Given the description of an element on the screen output the (x, y) to click on. 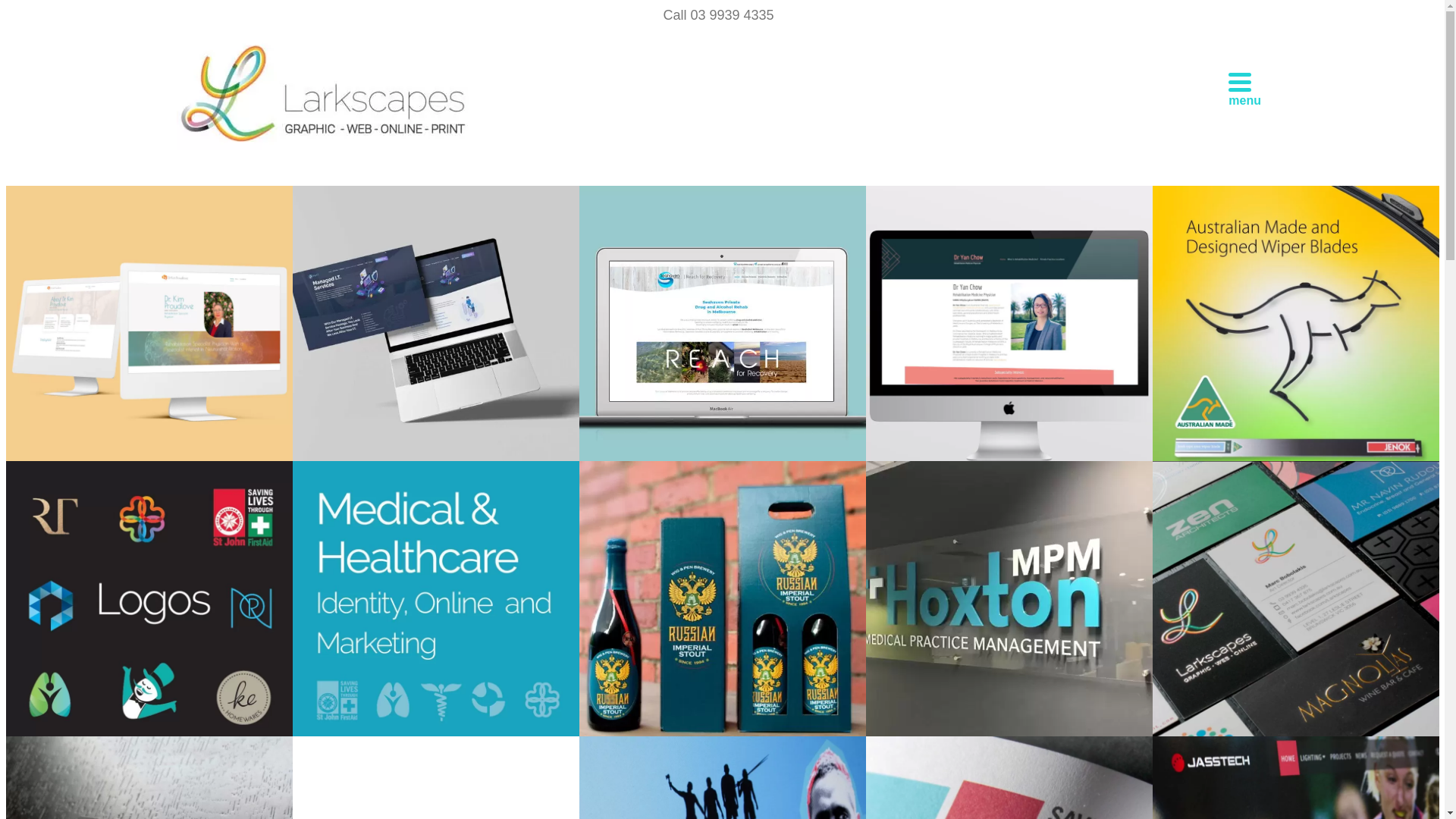
Call 03 9939 4335 Element type: text (716, 15)
